Given the description of an element on the screen output the (x, y) to click on. 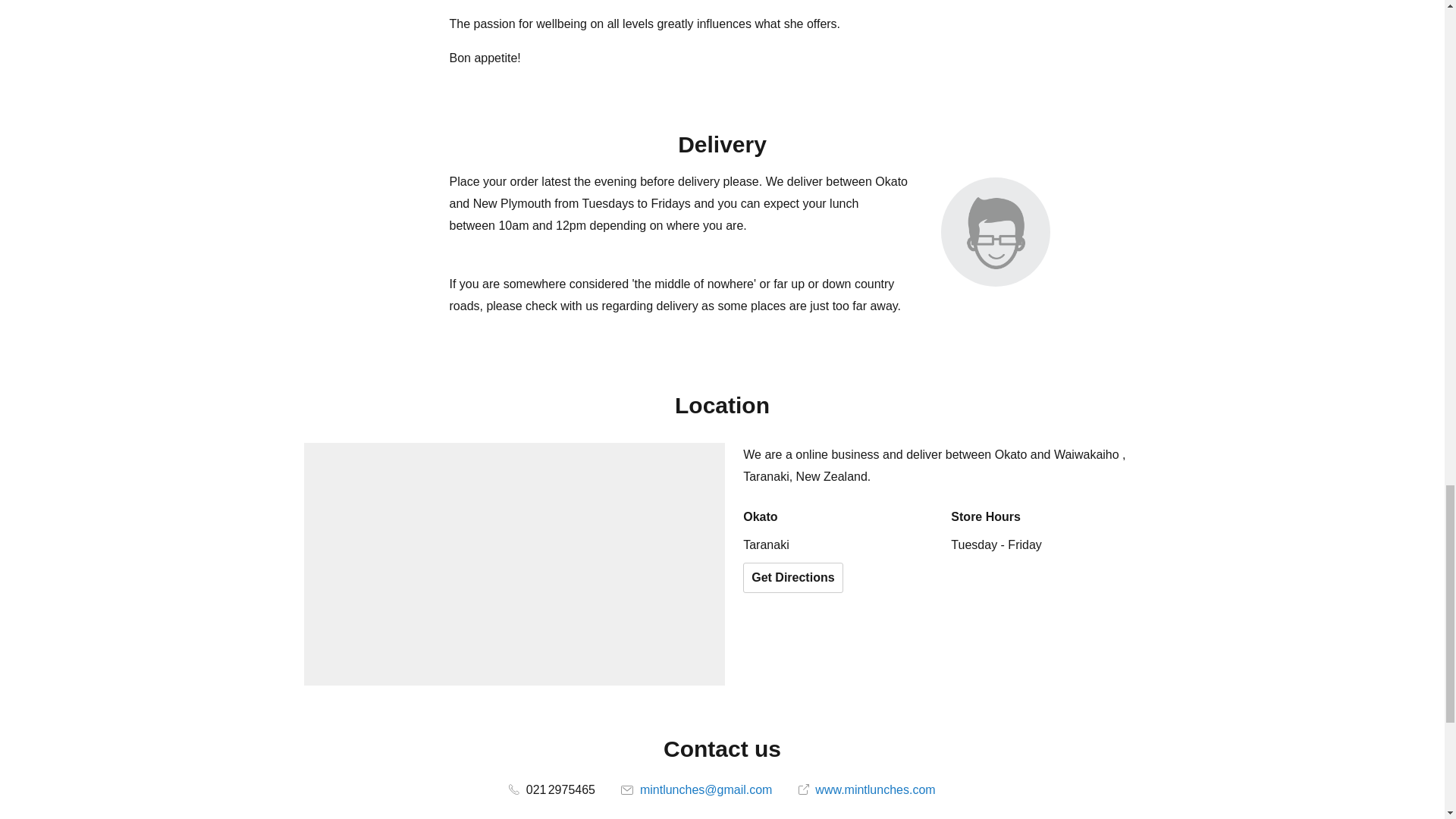
www.mintlunches.com (866, 789)
Location on map (513, 564)
Get Directions (792, 577)
